Given the description of an element on the screen output the (x, y) to click on. 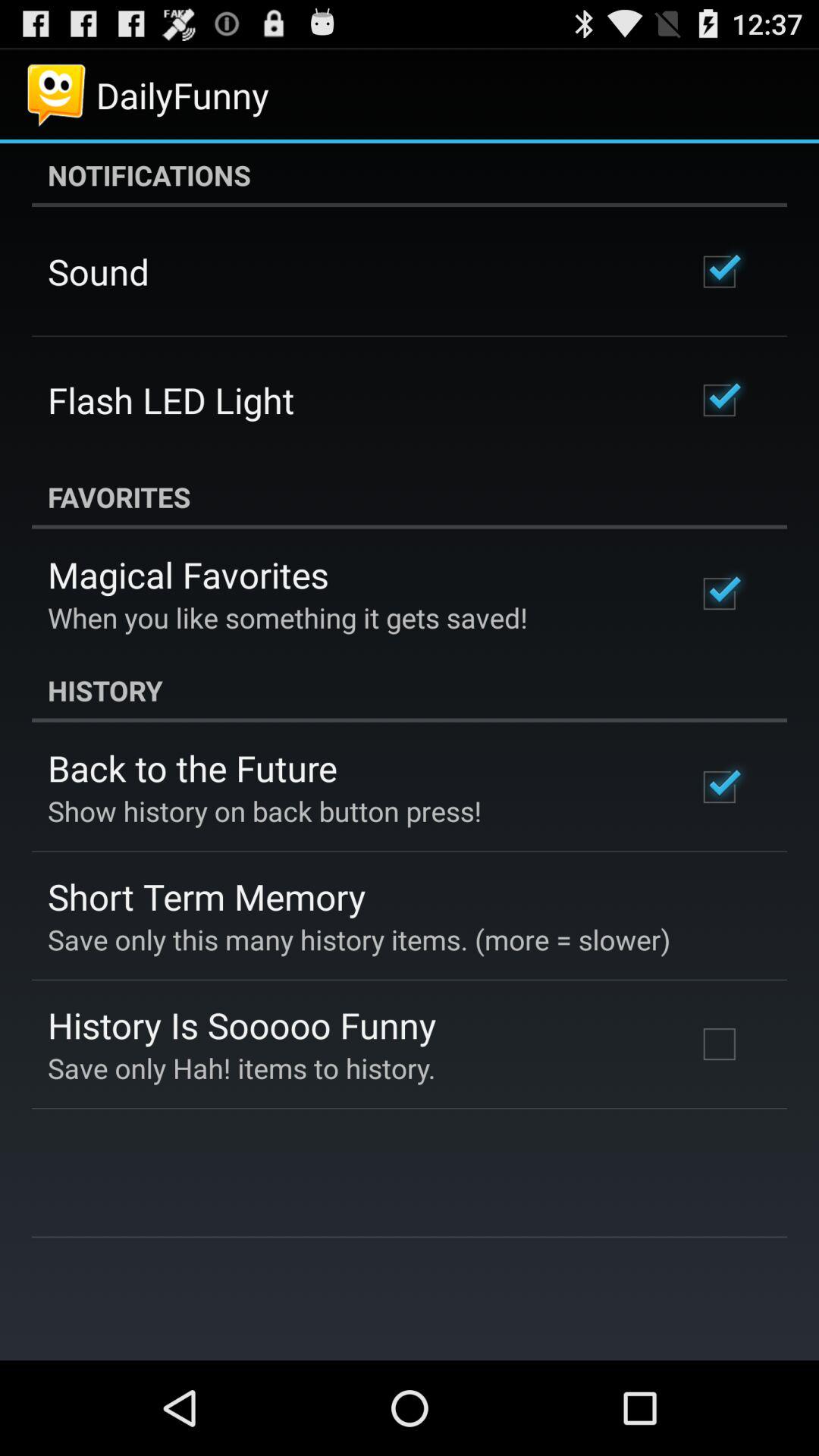
turn off item above flash led light icon (98, 271)
